Given the description of an element on the screen output the (x, y) to click on. 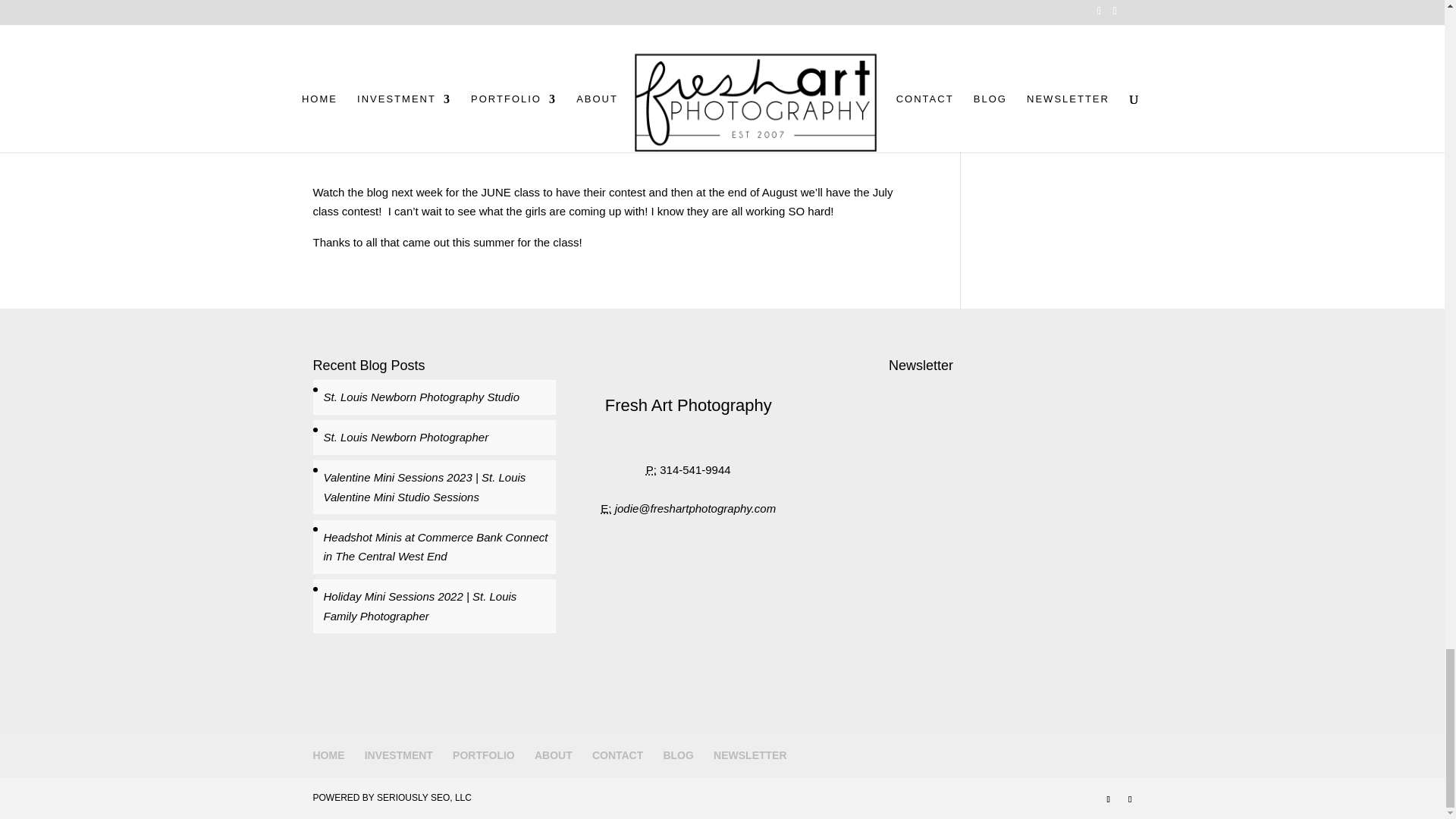
Phone (651, 469)
Email (605, 508)
